Given the description of an element on the screen output the (x, y) to click on. 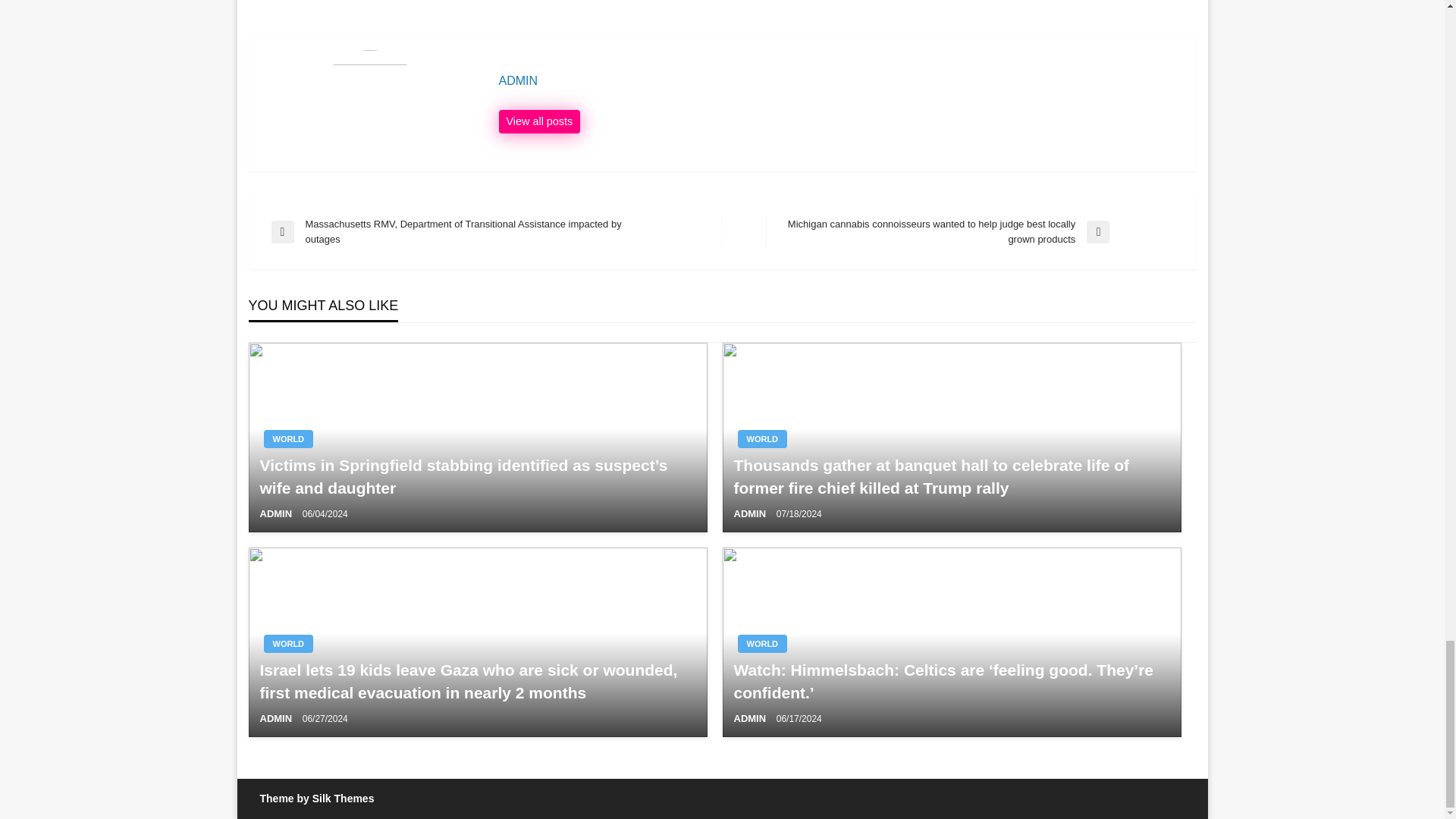
WORLD (761, 438)
WORLD (288, 438)
ADMIN (539, 121)
ADMIN (750, 513)
ADMIN (839, 80)
View all posts (539, 121)
ADMIN (839, 80)
ADMIN (276, 513)
